Given the description of an element on the screen output the (x, y) to click on. 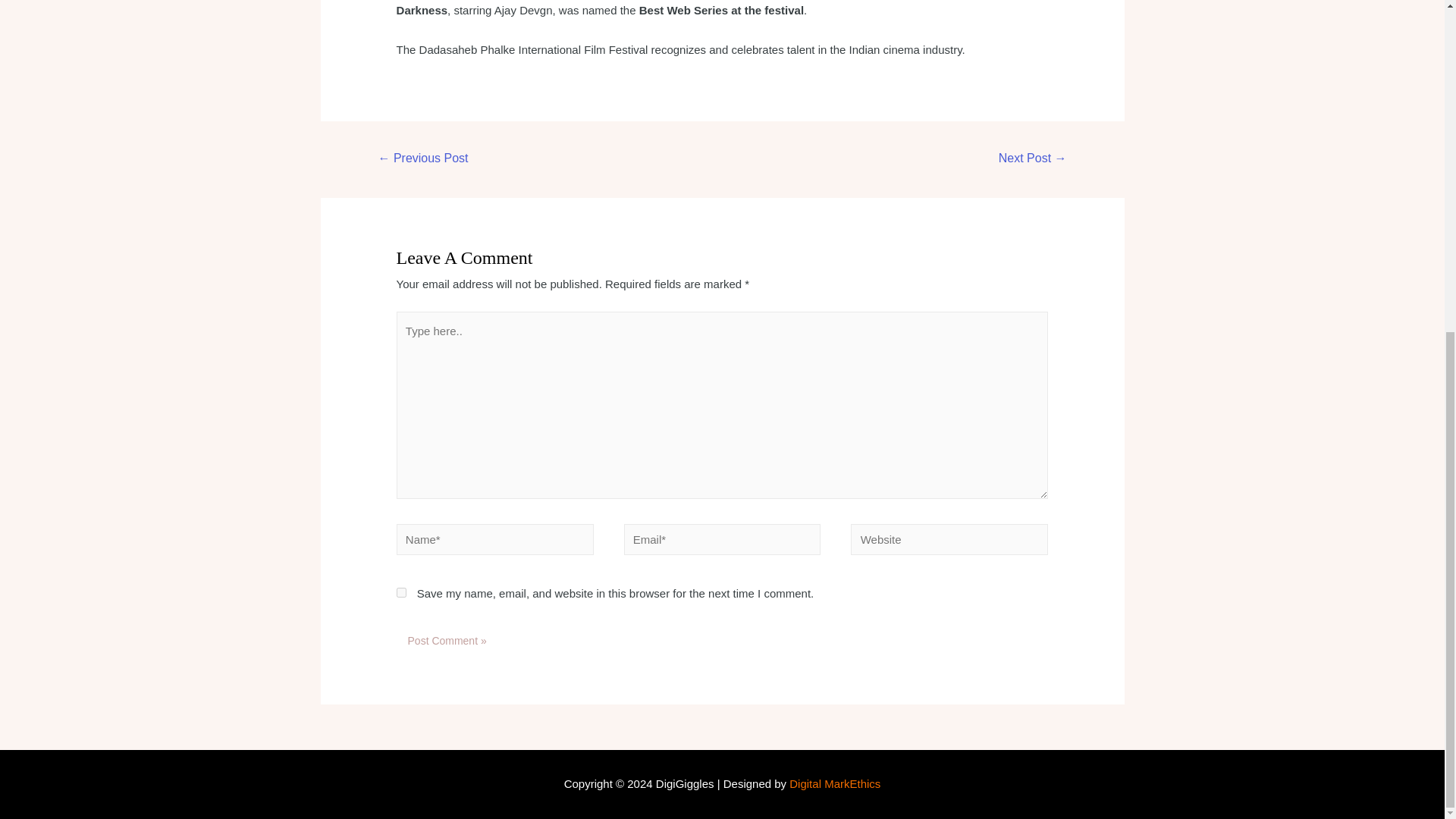
yes (401, 592)
